Given the description of an element on the screen output the (x, y) to click on. 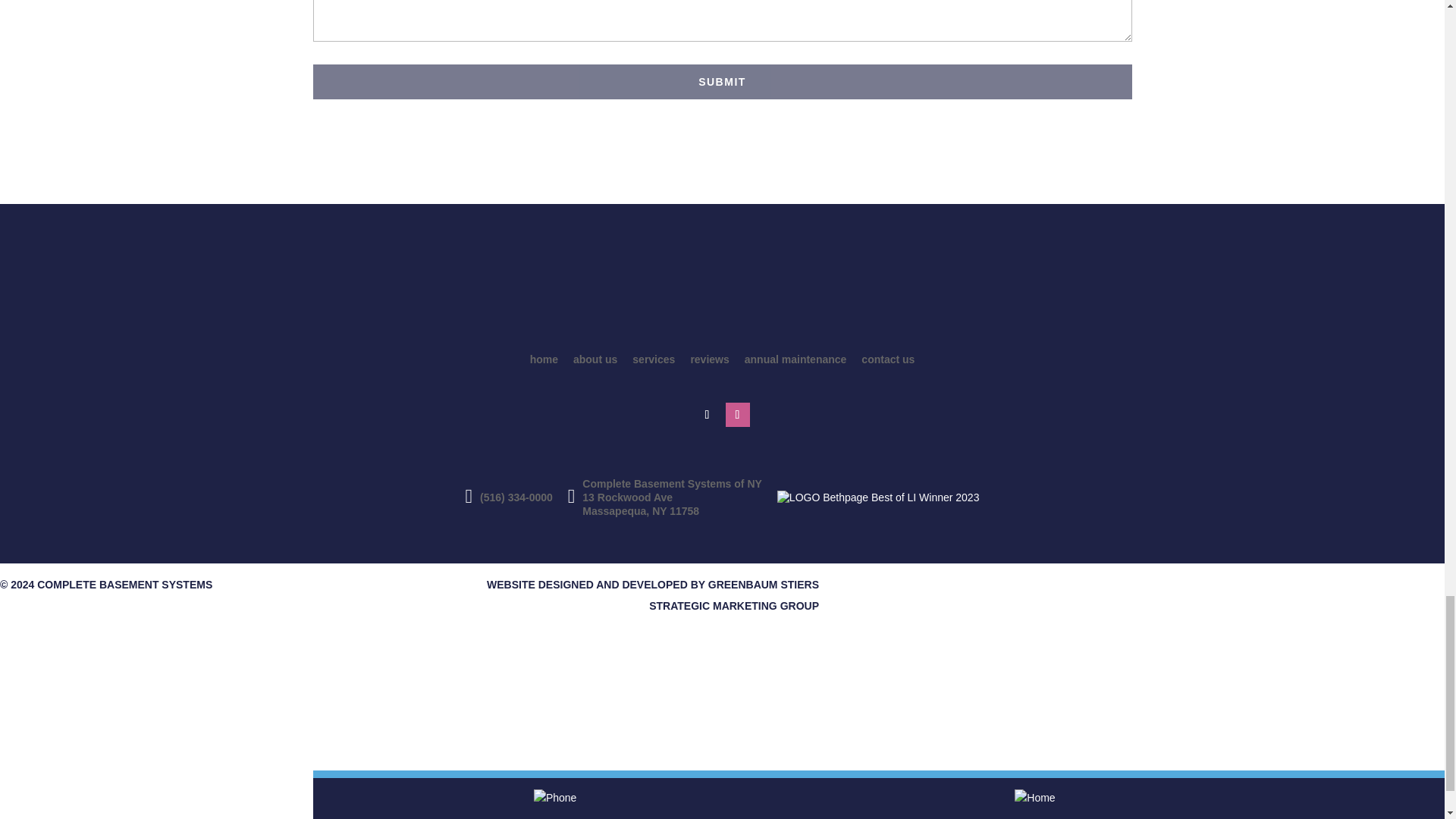
Follow on Facebook (706, 414)
Follow on Instagram (737, 414)
Submit (722, 81)
